Given the description of an element on the screen output the (x, y) to click on. 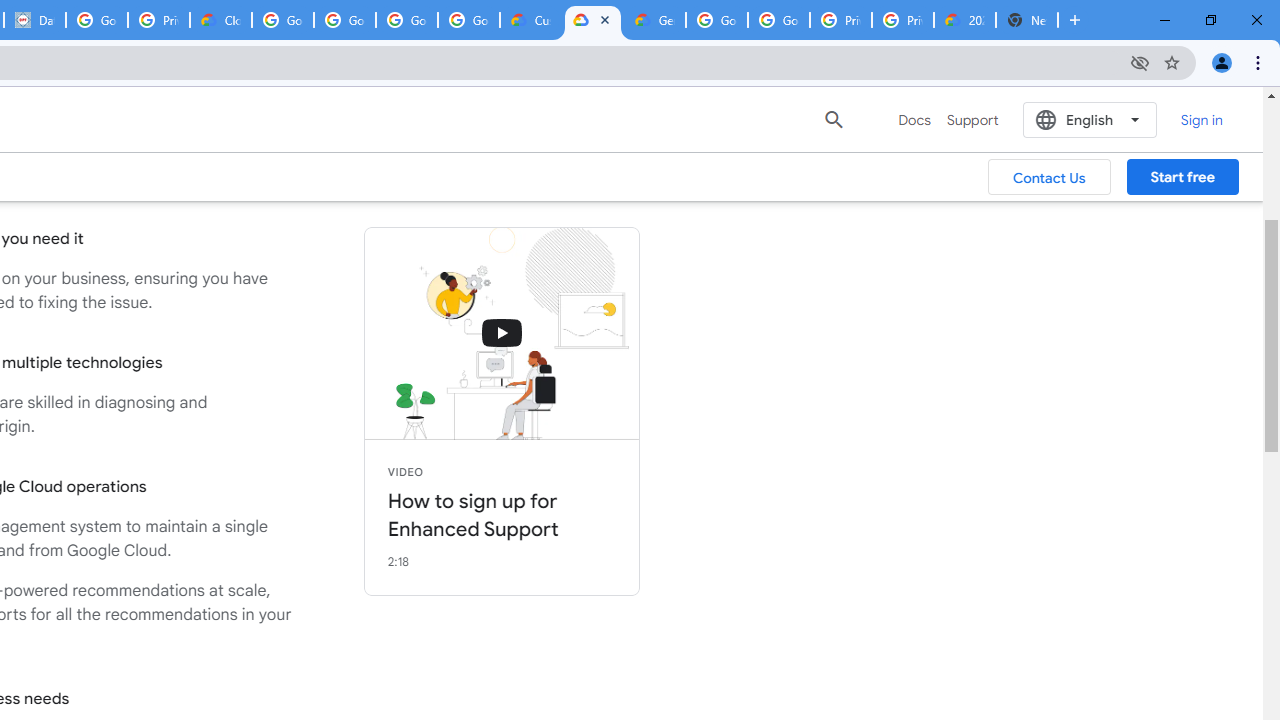
New Tab (1026, 20)
Google Workspace - Specific Terms (468, 20)
connecting with support (501, 332)
Google Cloud Platform (716, 20)
Google Cloud Platform (778, 20)
Customer Care | Google Cloud (530, 20)
Support (972, 119)
Gemini for Business and Developers | Google Cloud (654, 20)
